Given the description of an element on the screen output the (x, y) to click on. 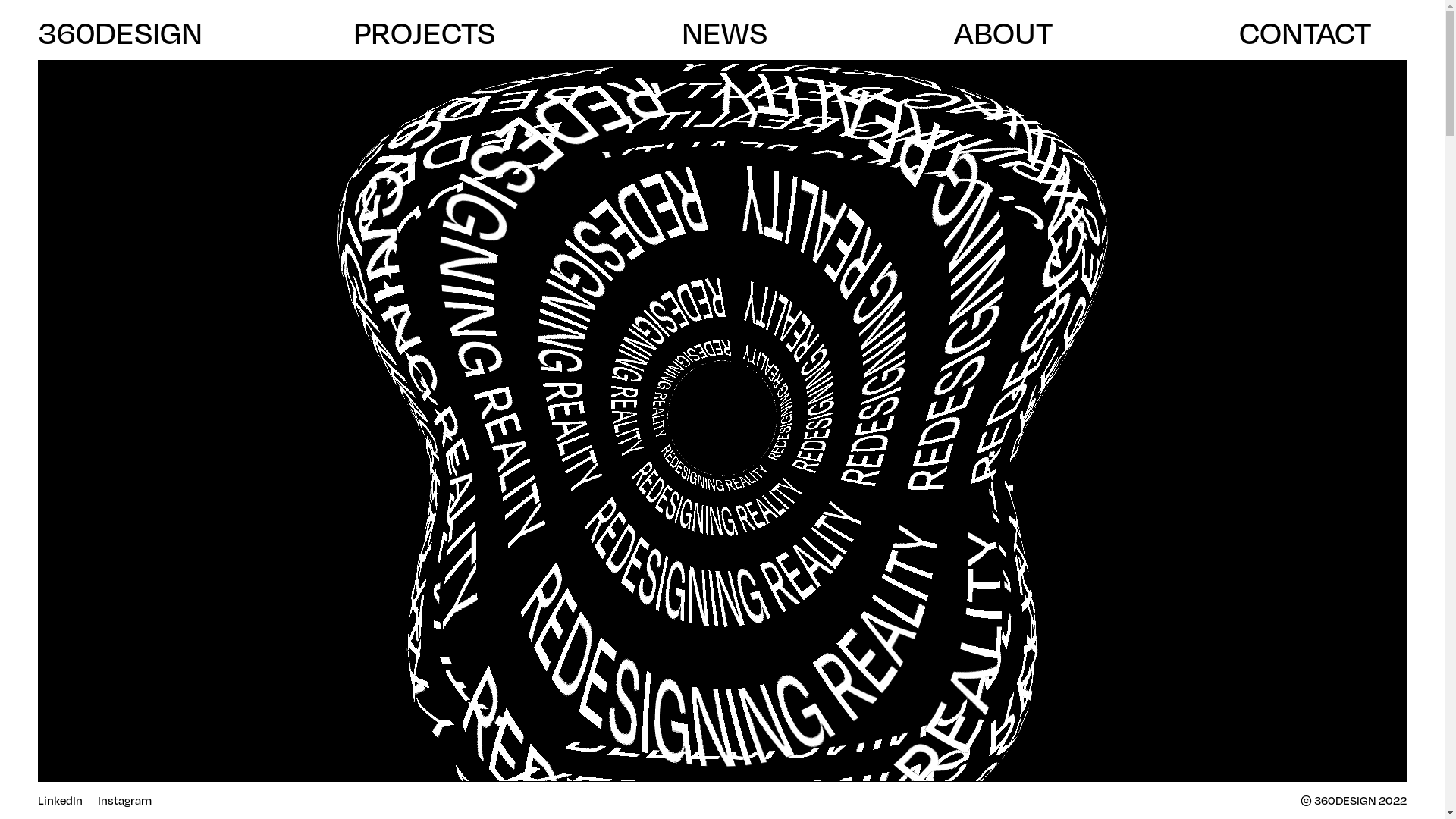
LinkedIn Element type: text (59, 799)
Instagram Element type: text (124, 799)
360DESIGN Element type: text (119, 32)
PROJECTS Element type: text (441, 32)
NEWS Element type: text (742, 32)
ABOUT Element type: text (1020, 32)
CONTACT Element type: text (1322, 32)
